Given the description of an element on the screen output the (x, y) to click on. 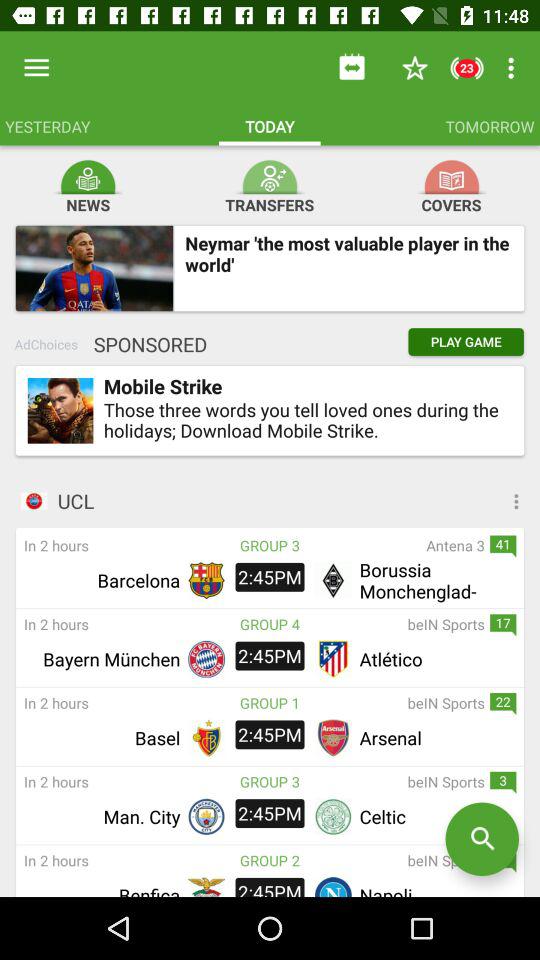
expand or hide results (441, 501)
